Given the description of an element on the screen output the (x, y) to click on. 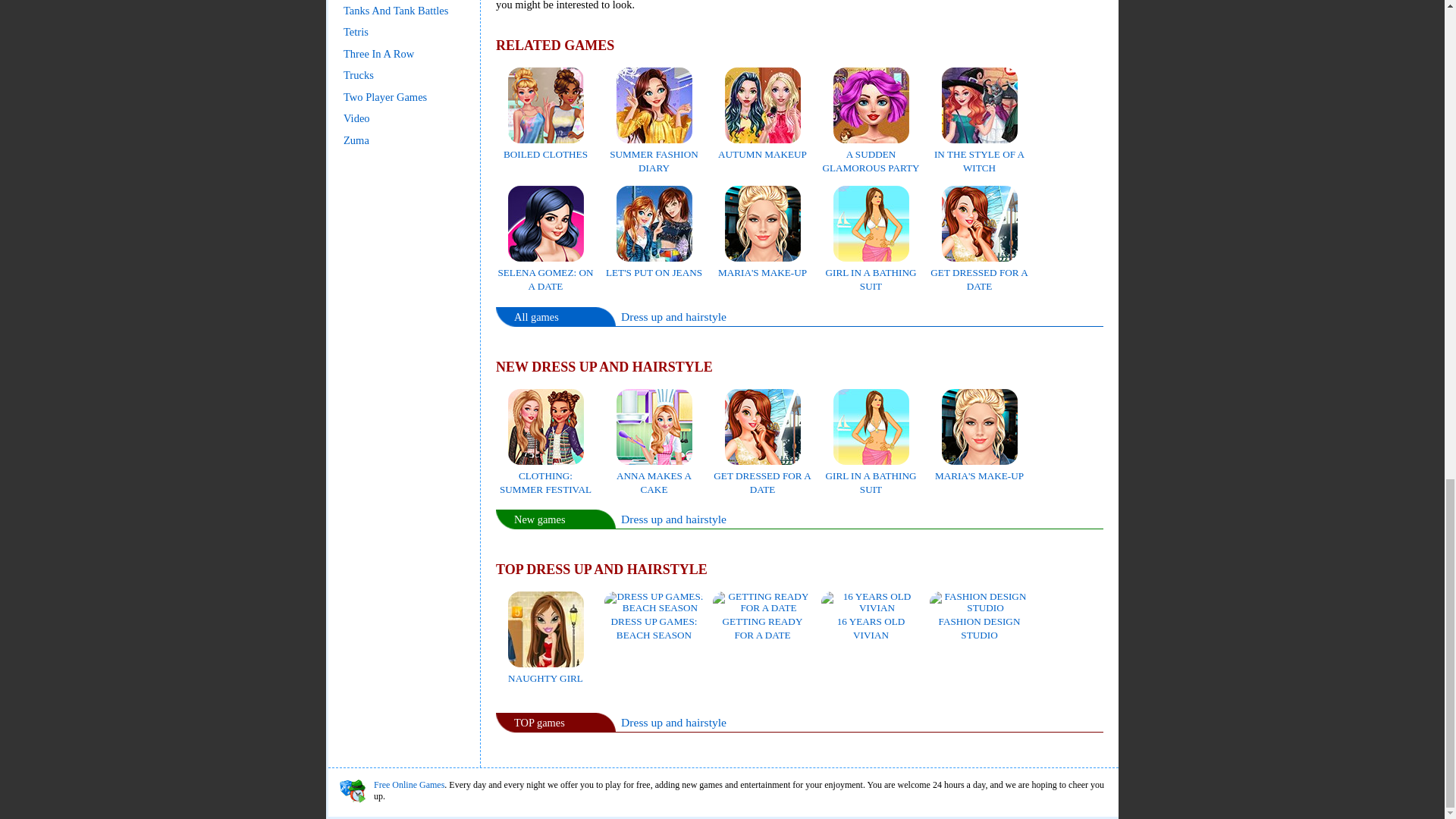
ANNA MAKES A CAKE (653, 475)
SUMMER FASHION DIARY (654, 154)
IN THE STYLE OF A WITCH (979, 154)
IN THE STYLE OF A WITCH (979, 154)
MARIA'S MAKE-UP (761, 265)
Dress up and hairstyle (673, 721)
16 YEARS OLD VIVIAN (870, 620)
Dress up and hairstyle (673, 316)
A SUDDEN GLAMOROUS PARTY (870, 154)
New games (539, 519)
LET'S PUT ON JEANS (653, 265)
A SUDDEN GLAMOROUS PARTY (870, 154)
BOILED CLOTHES (545, 147)
SELENA GOMEZ: ON A DATE (544, 272)
SUMMER FASHION DIARY (654, 154)
